Given the description of an element on the screen output the (x, y) to click on. 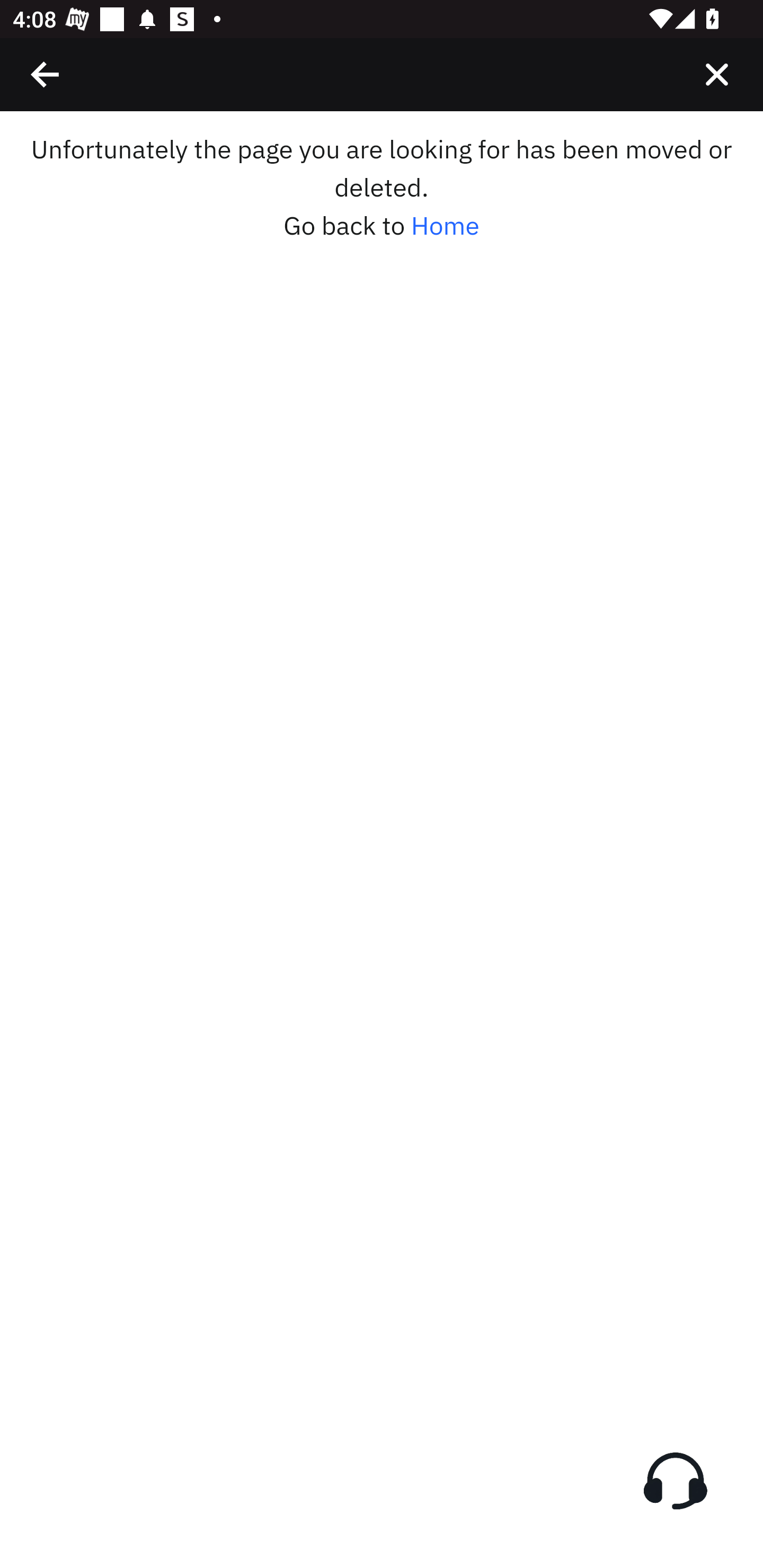
 (46, 74)
 (716, 74)
Home (444, 225)
Nova Your Virtual Assistant! button (674, 1480)
